Given the description of an element on the screen output the (x, y) to click on. 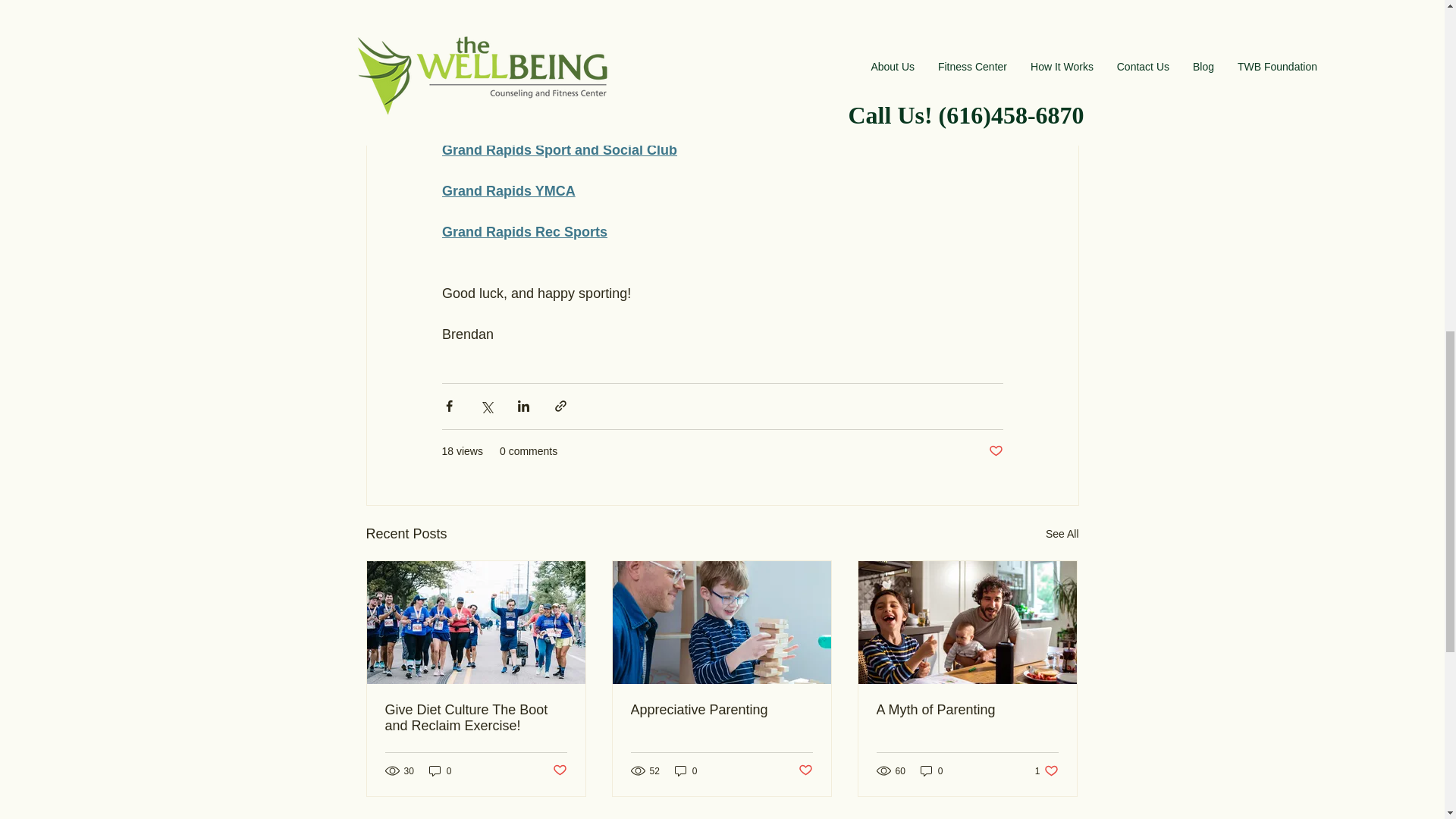
Appreciative Parenting (721, 709)
Grand Rapids YMCA (1046, 770)
A Myth of Parenting (508, 191)
0 (967, 709)
0 (685, 770)
0 (931, 770)
See All (440, 770)
Grand Rapids Rec Sports (1061, 534)
Post not marked as liked (524, 231)
Give Diet Culture The Boot and Reclaim Exercise! (995, 451)
Post not marked as liked (476, 717)
Grand Rapids Sport and Social Club (804, 770)
Post not marked as liked (559, 150)
